Given the description of an element on the screen output the (x, y) to click on. 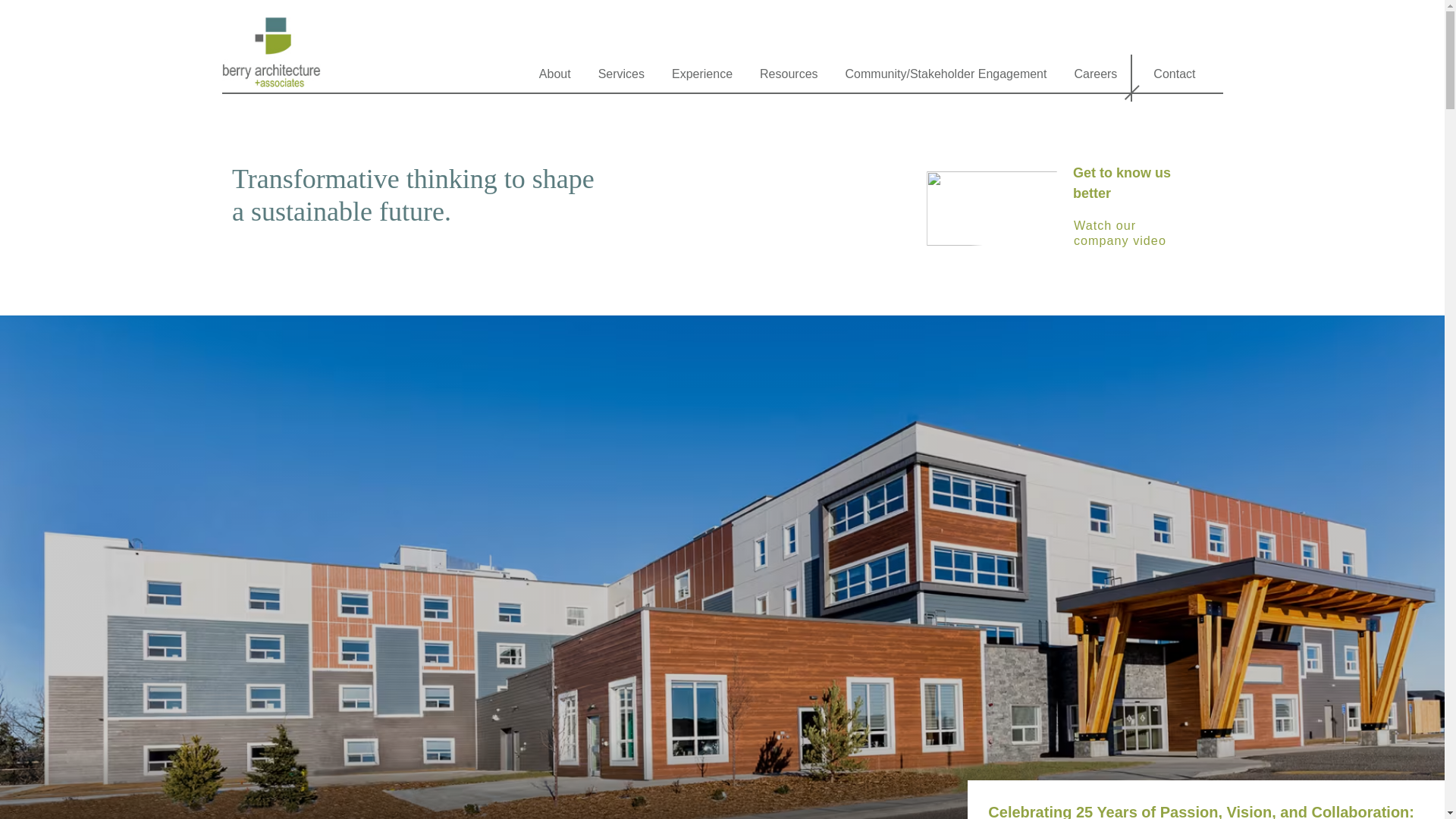
About Element type: text (554, 77)
Experience Element type: text (702, 77)
Resources Element type: text (788, 77)
Contact Element type: text (1173, 77)
Careers Element type: text (1095, 77)
Services Element type: text (621, 77)
Community/Stakeholder Engagement Element type: text (945, 77)
Watch our company video Element type: text (1132, 235)
